Given the description of an element on the screen output the (x, y) to click on. 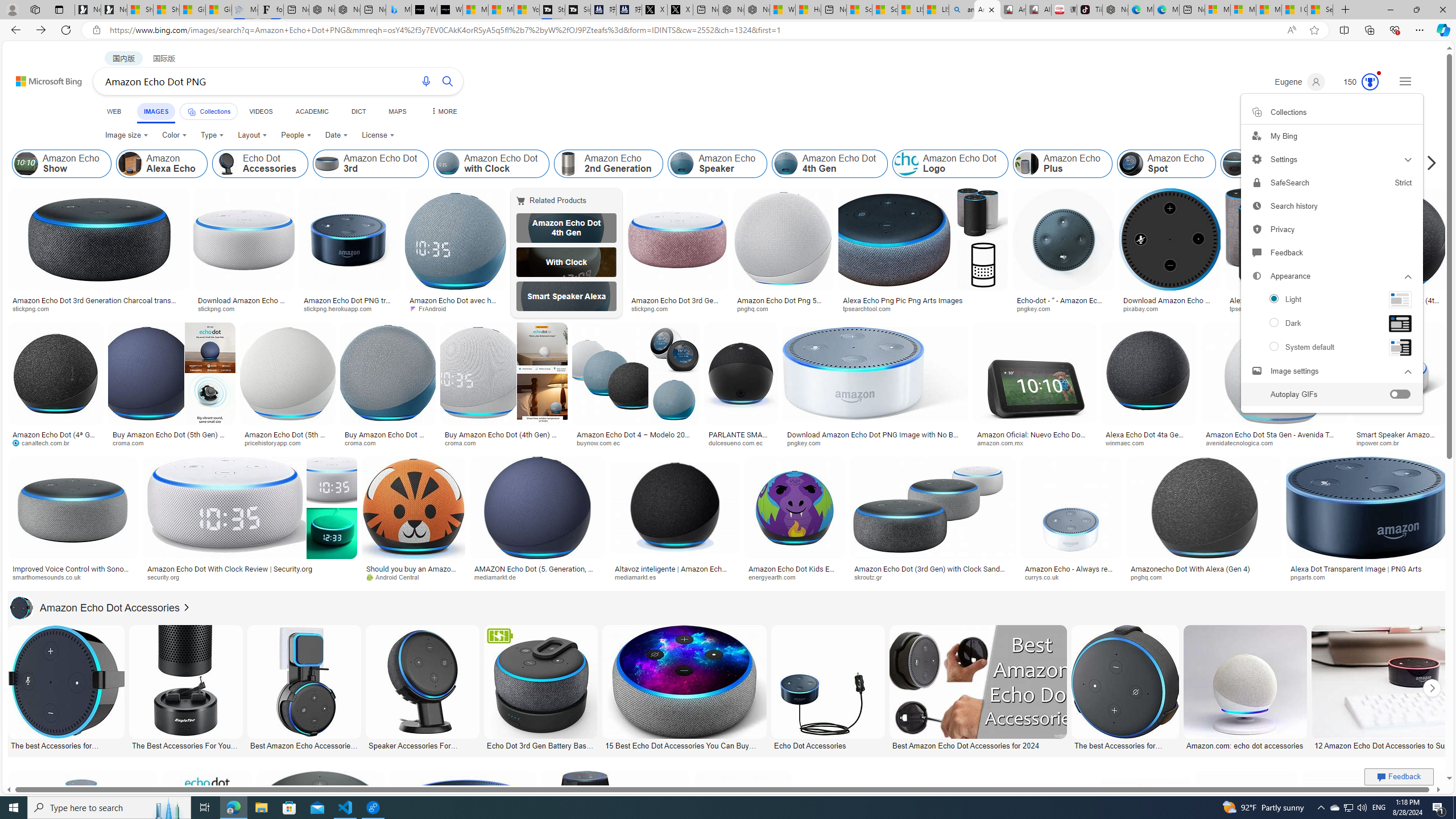
TikTok (1089, 9)
IMAGES (156, 112)
Class: b_pri_nav_svg (191, 112)
security.org (249, 576)
IMAGES (156, 111)
VIDEOS (260, 111)
Streaming Coverage | T3 (551, 9)
Appearance (1331, 275)
All Cubot phones (1037, 9)
